Given the description of an element on the screen output the (x, y) to click on. 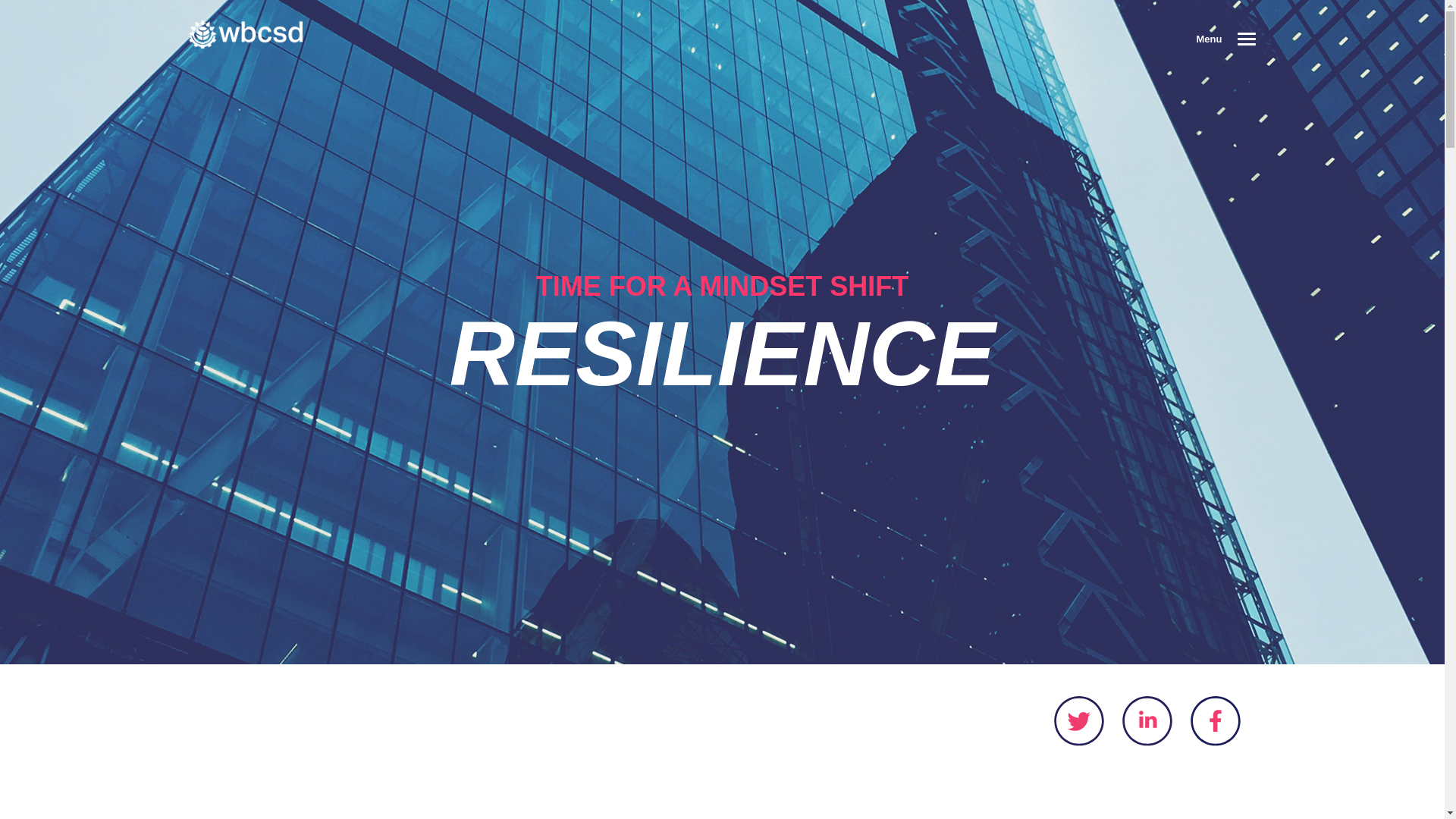
Menu (1221, 36)
linkedIn (1147, 720)
twitter (1078, 720)
facebook (1215, 720)
WBCSD (244, 32)
